Given the description of an element on the screen output the (x, y) to click on. 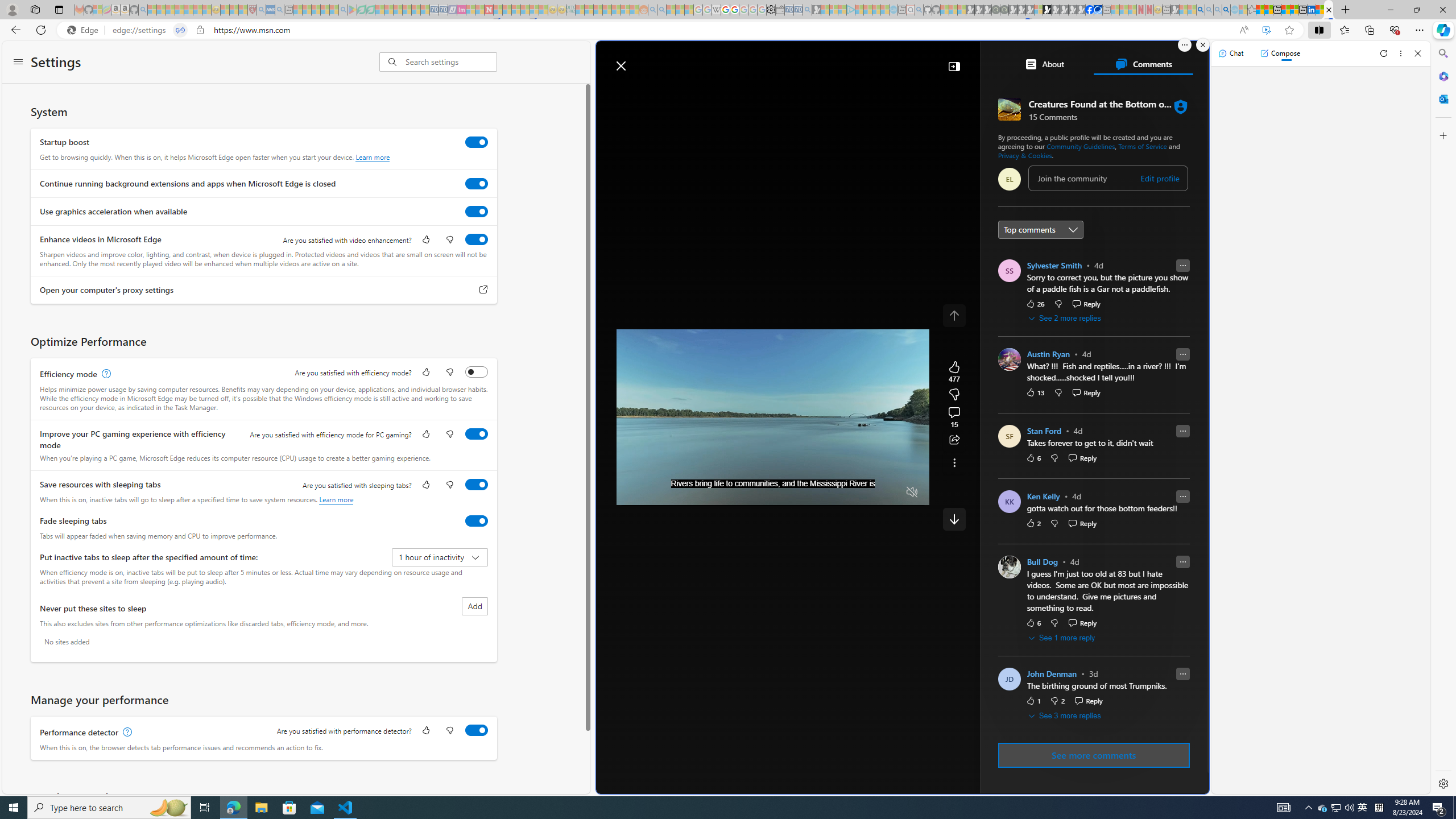
Community Guidelines (1080, 145)
477 (954, 394)
